Given the description of an element on the screen output the (x, y) to click on. 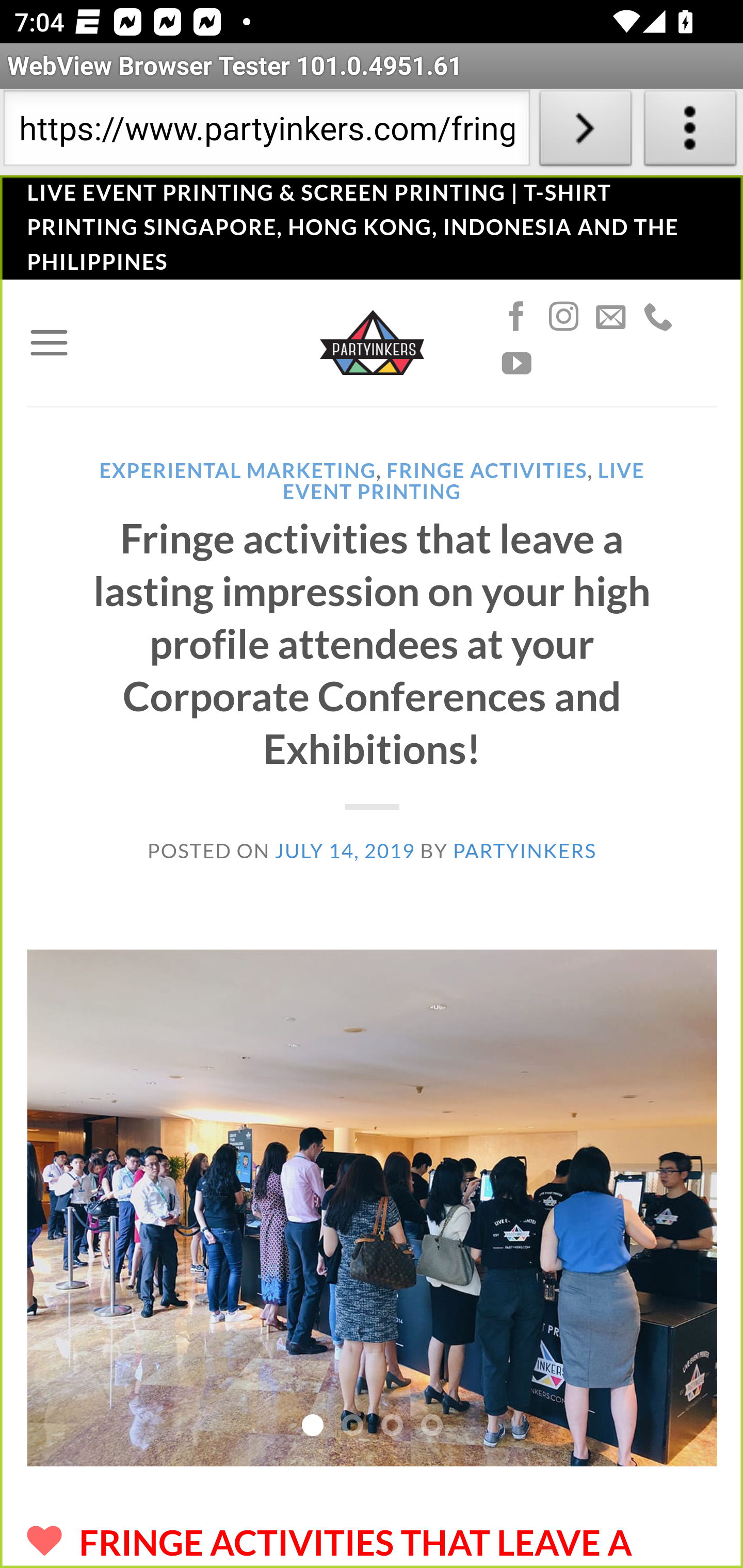
Load URL (585, 132)
About WebView (690, 132)
partyinkers (371, 341)
Menu  (48, 342)
 (516, 317)
 (562, 317)
 (610, 317)
 (657, 317)
 (516, 364)
EXPERIENTAL MARKETING (237, 470)
LIVE EVENT PRINTING (463, 480)
FRINGE ACTIVITIES (487, 470)
JULY 14, 2019 (345, 849)
PARTYINKERS (524, 849)
